Given the description of an element on the screen output the (x, y) to click on. 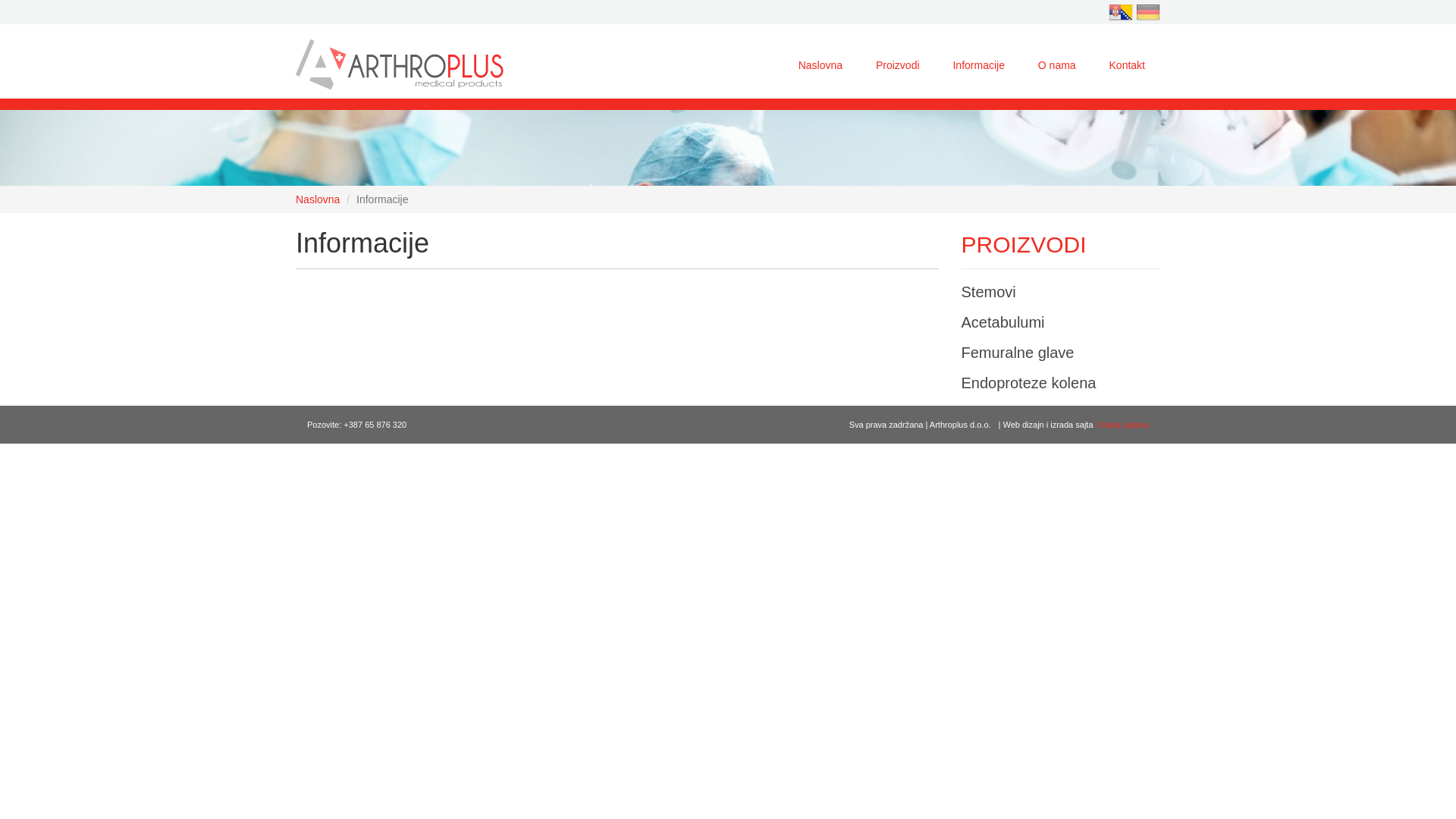
Proizvodi Element type: text (897, 65)
Femuralne glave Element type: text (1017, 352)
O nama Element type: text (1056, 65)
Naslovna Element type: text (317, 199)
Informacije Element type: text (978, 65)
Acetabulumi Element type: text (1002, 321)
Arthroplus - Medicinski proizvodi i Implanti  Element type: hover (399, 64)
Endoproteze kolena Element type: text (1028, 382)
Izrada sajtova Element type: text (1122, 424)
Kontakt Element type: text (1127, 65)
Stemovi Element type: text (988, 291)
Naslovna Element type: text (820, 65)
